Given the description of an element on the screen output the (x, y) to click on. 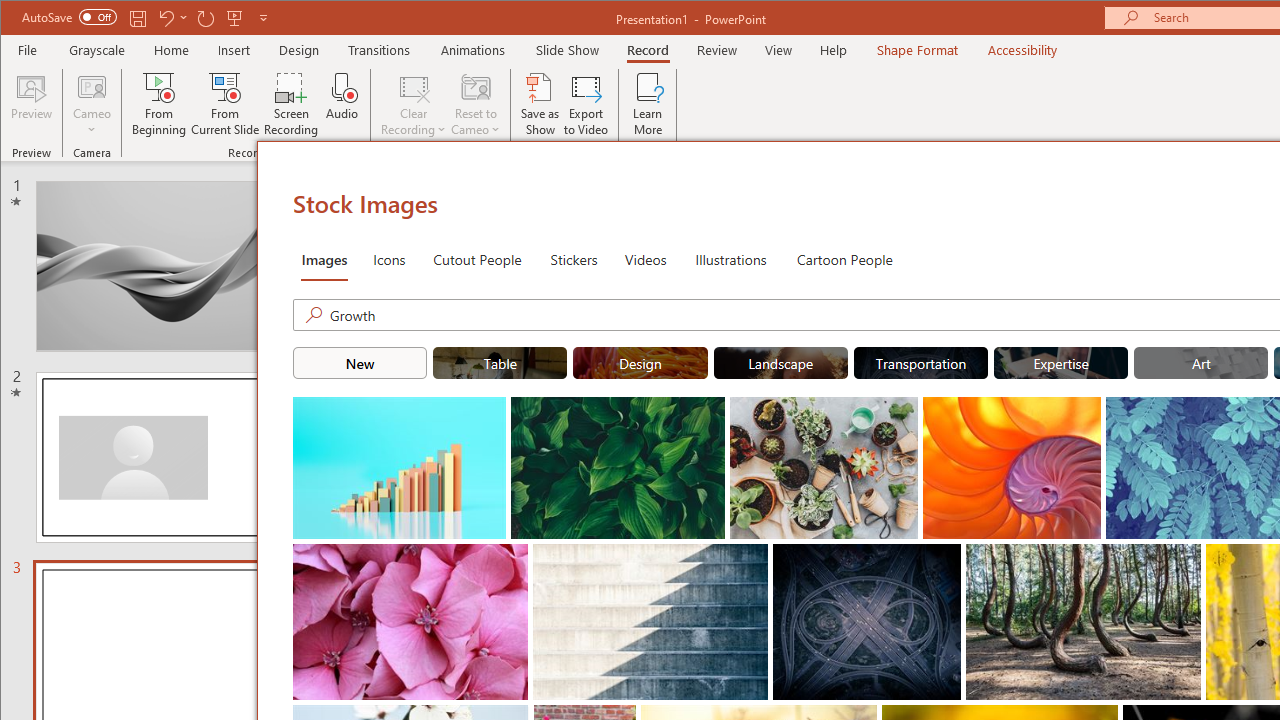
Cameo (91, 104)
Clear Recording (413, 104)
Design (299, 50)
Insert (233, 50)
"Table" Stock Images. (499, 362)
Audio (342, 104)
Export to Video (585, 104)
Videos (645, 258)
Cameo (91, 86)
"Art" Stock Images. (1201, 362)
Icons (388, 258)
